Given the description of an element on the screen output the (x, y) to click on. 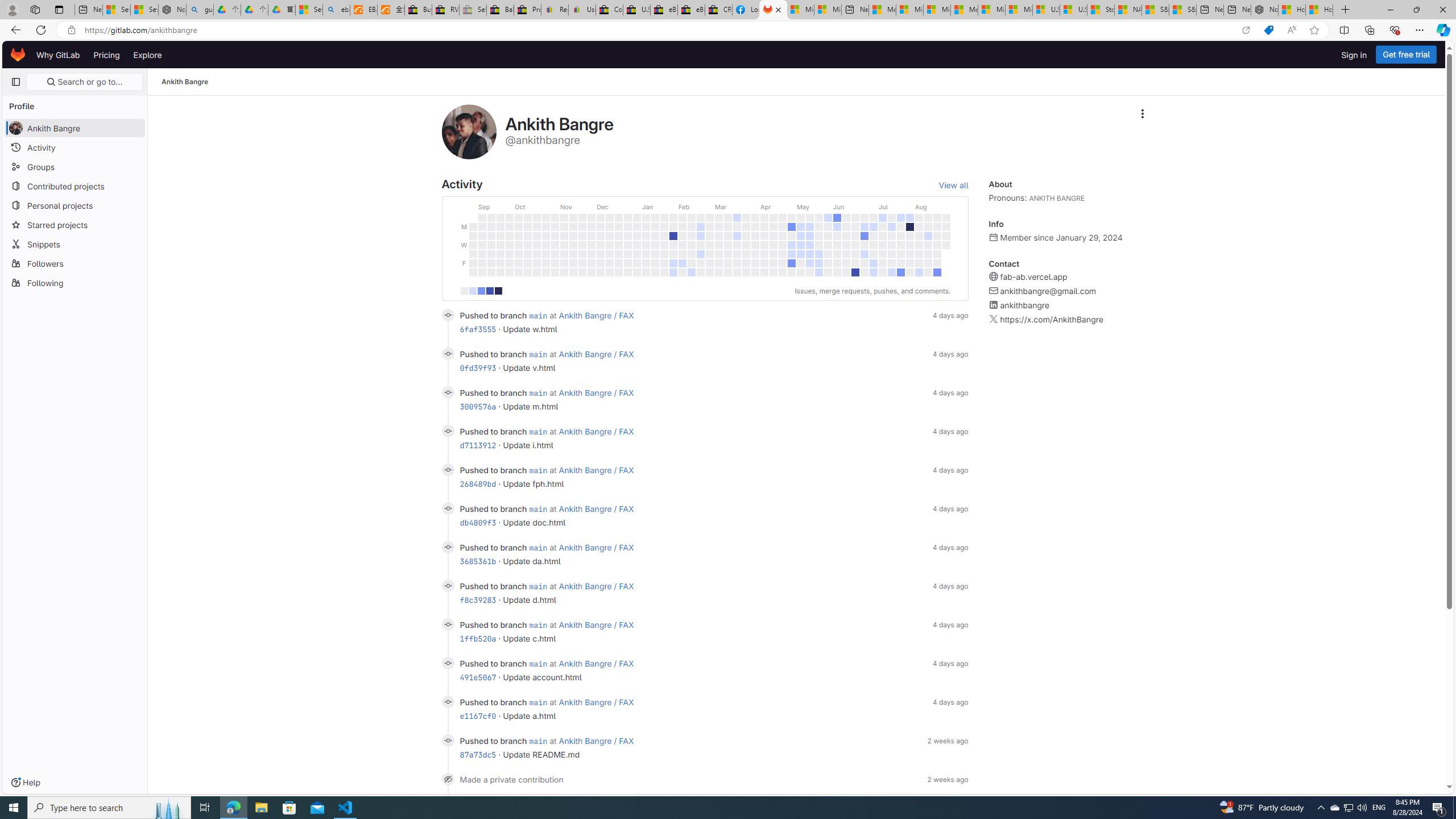
3685361b (478, 561)
New tab (1236, 9)
